Given the description of an element on the screen output the (x, y) to click on. 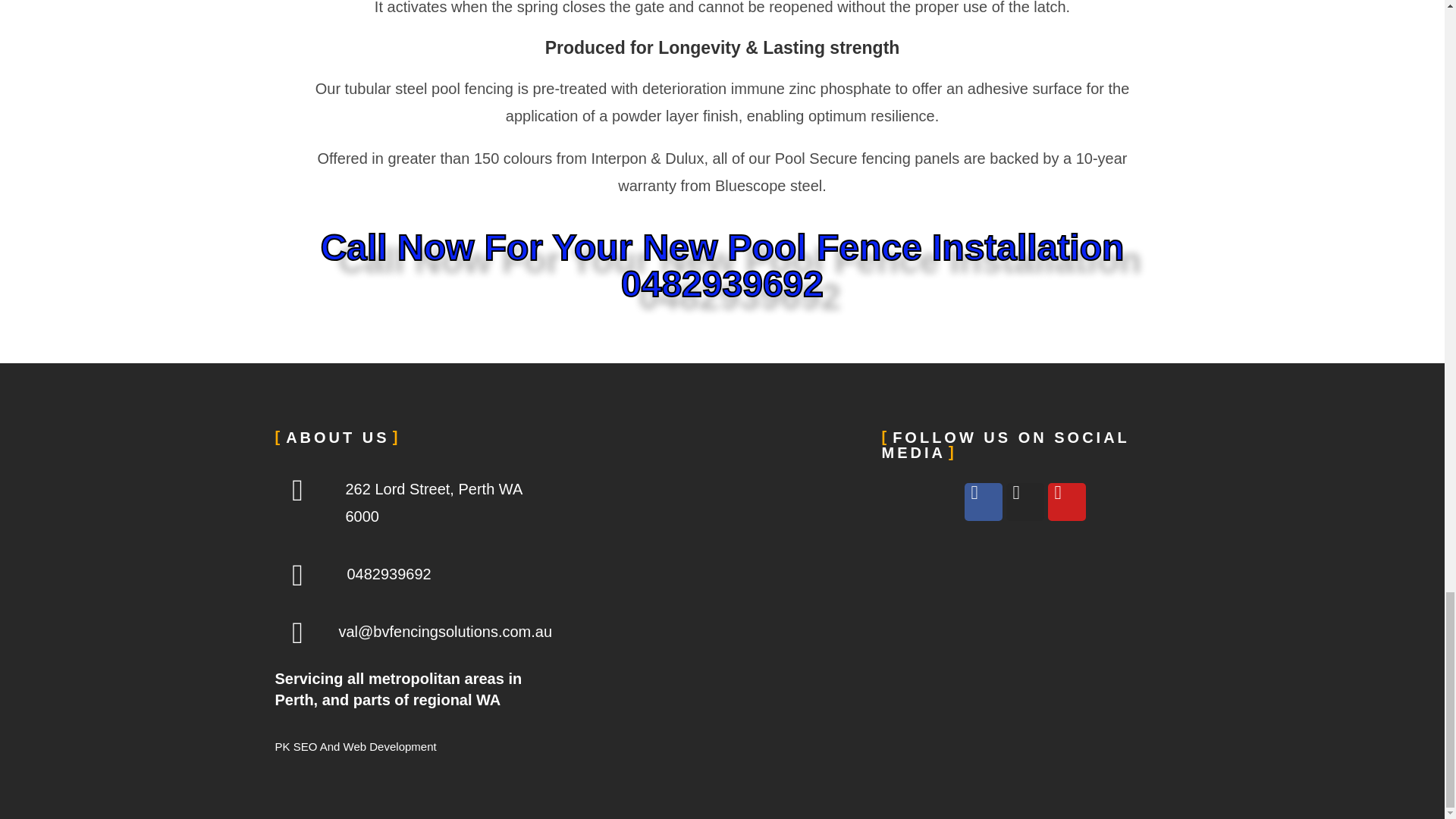
PK SEO And Web Development (355, 746)
Perth (722, 543)
0482939692 (388, 573)
